Given the description of an element on the screen output the (x, y) to click on. 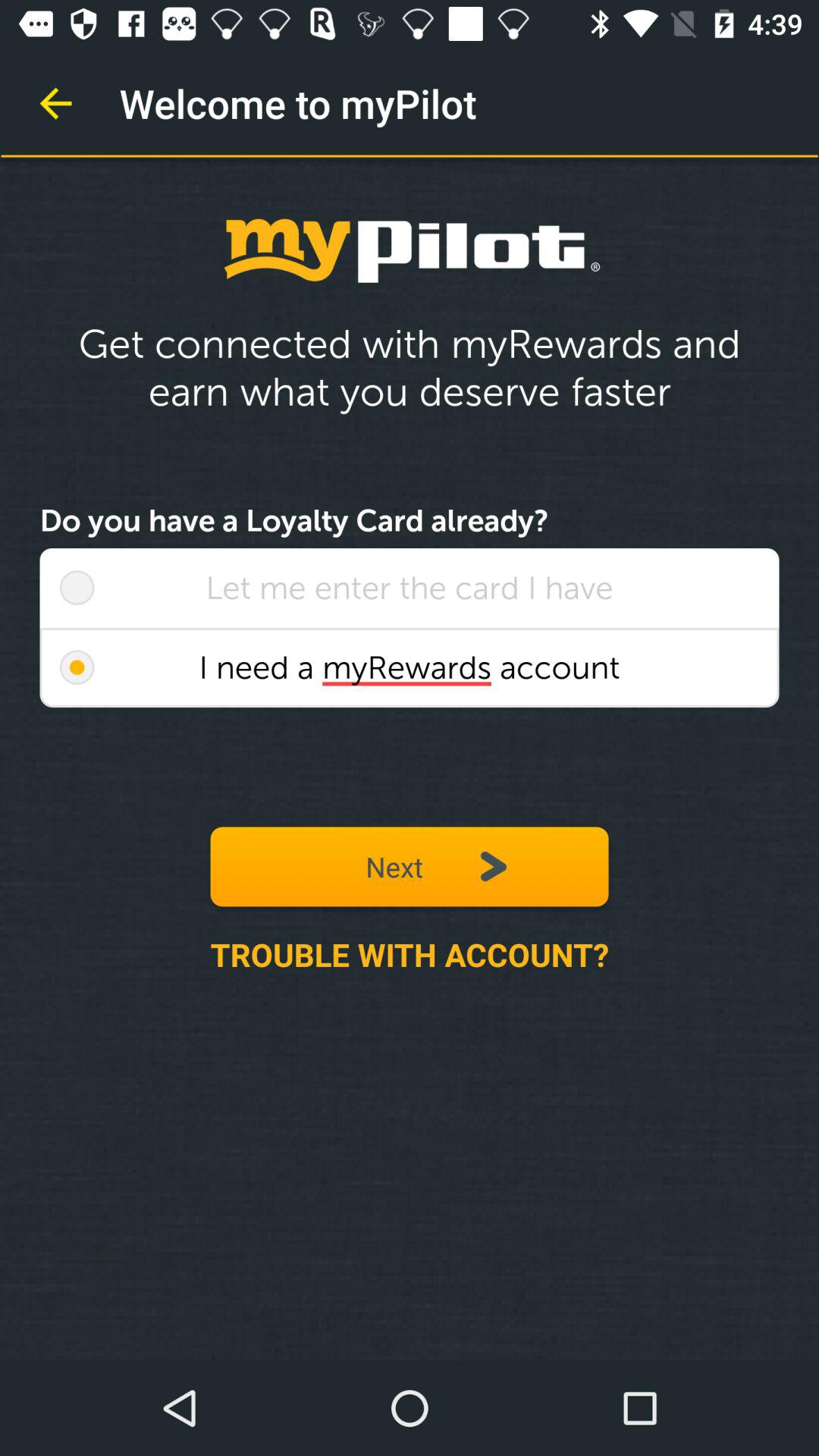
tap item next to welcome to mypilot item (55, 103)
